Given the description of an element on the screen output the (x, y) to click on. 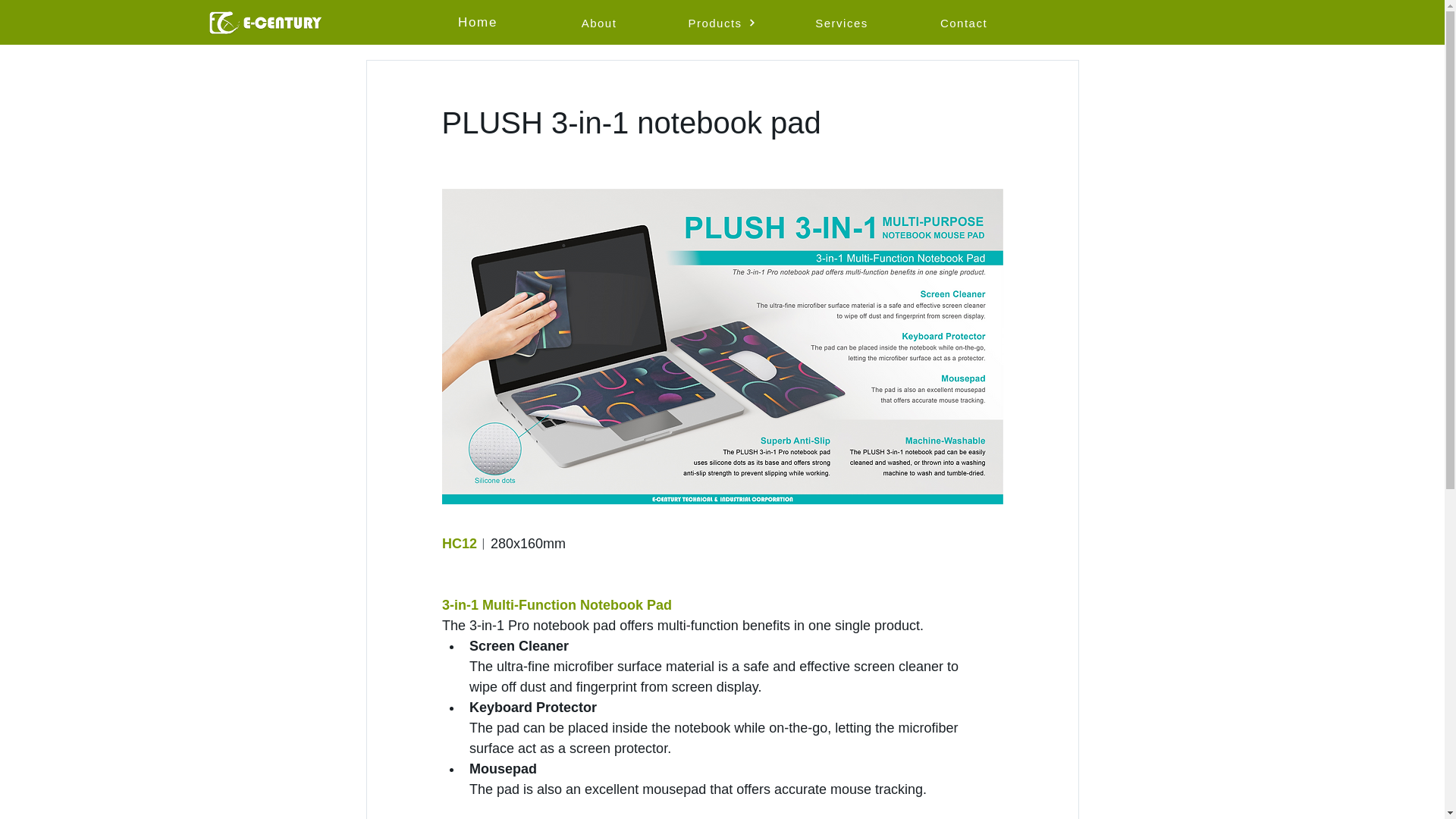
Contact (964, 22)
About (600, 22)
Home (479, 22)
Products (722, 22)
Services (843, 22)
